Given the description of an element on the screen output the (x, y) to click on. 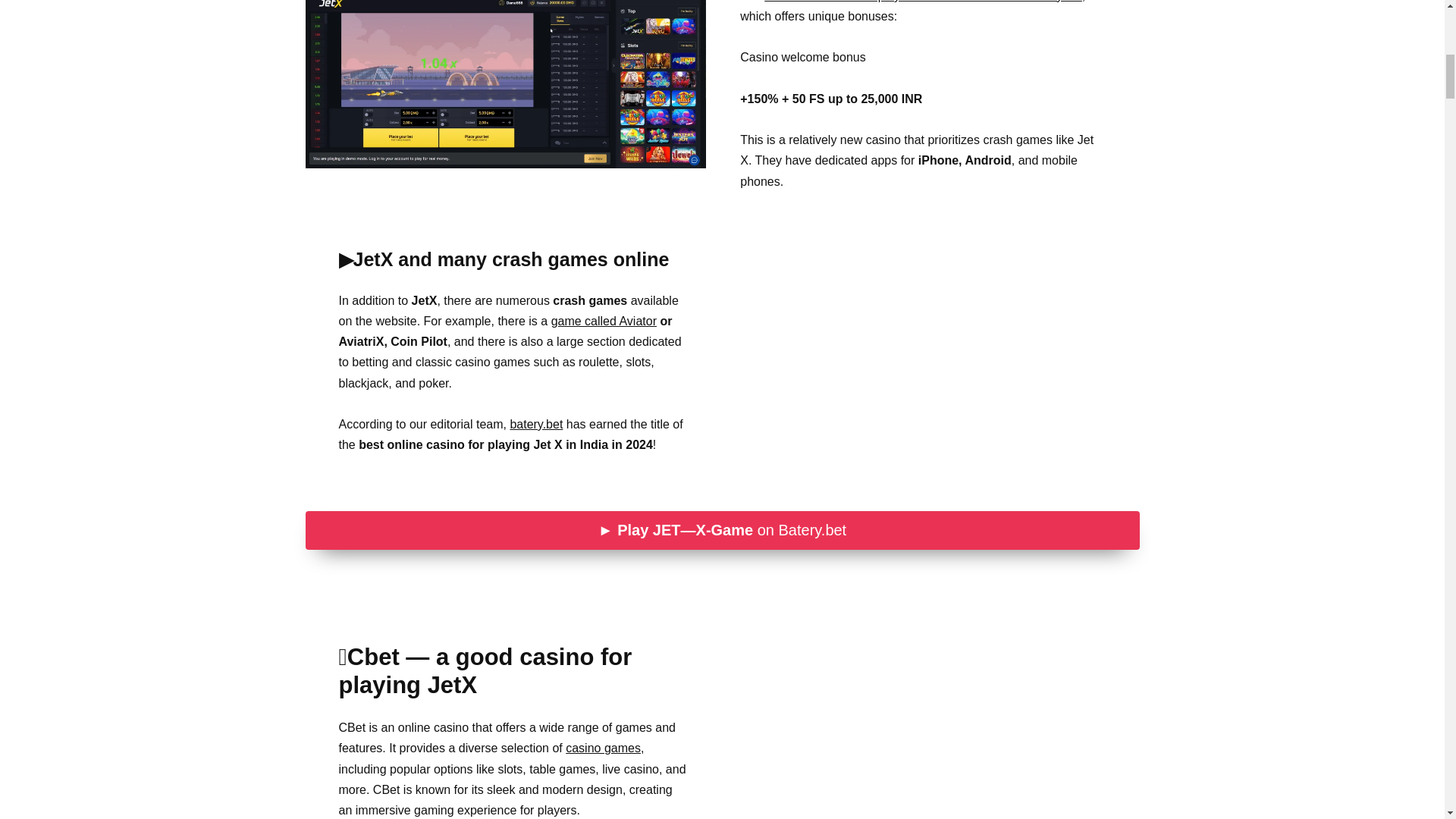
game called Aviator (603, 320)
batery.bet (535, 423)
